Given the description of an element on the screen output the (x, y) to click on. 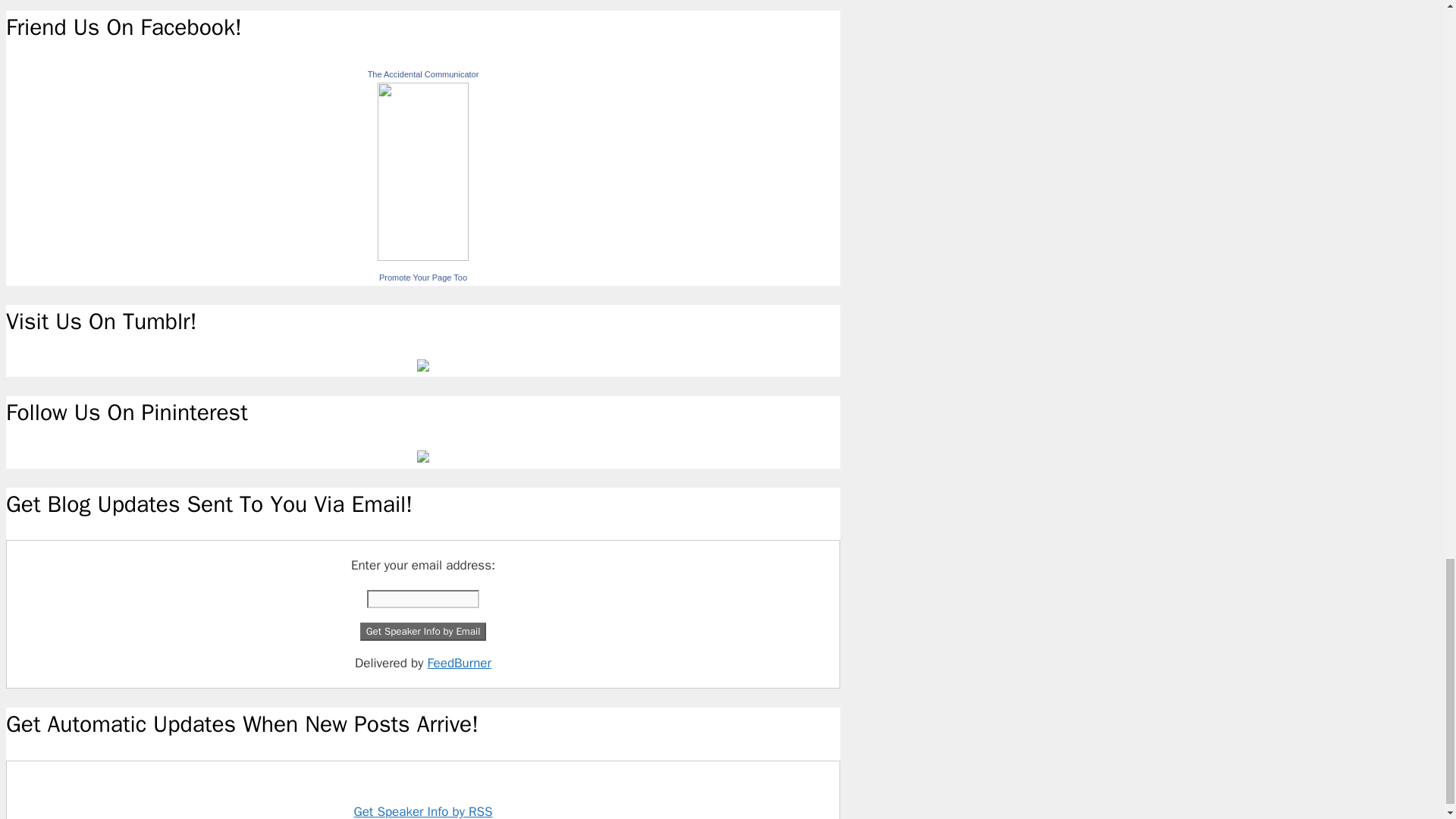
The Accidental Communicator (423, 73)
Promote Your Page Too (422, 276)
Make your own badge! (422, 276)
The Accidental Communicator (423, 73)
Get Speaker Info by Email (422, 631)
The Accidental Communicator (422, 256)
